Given the description of an element on the screen output the (x, y) to click on. 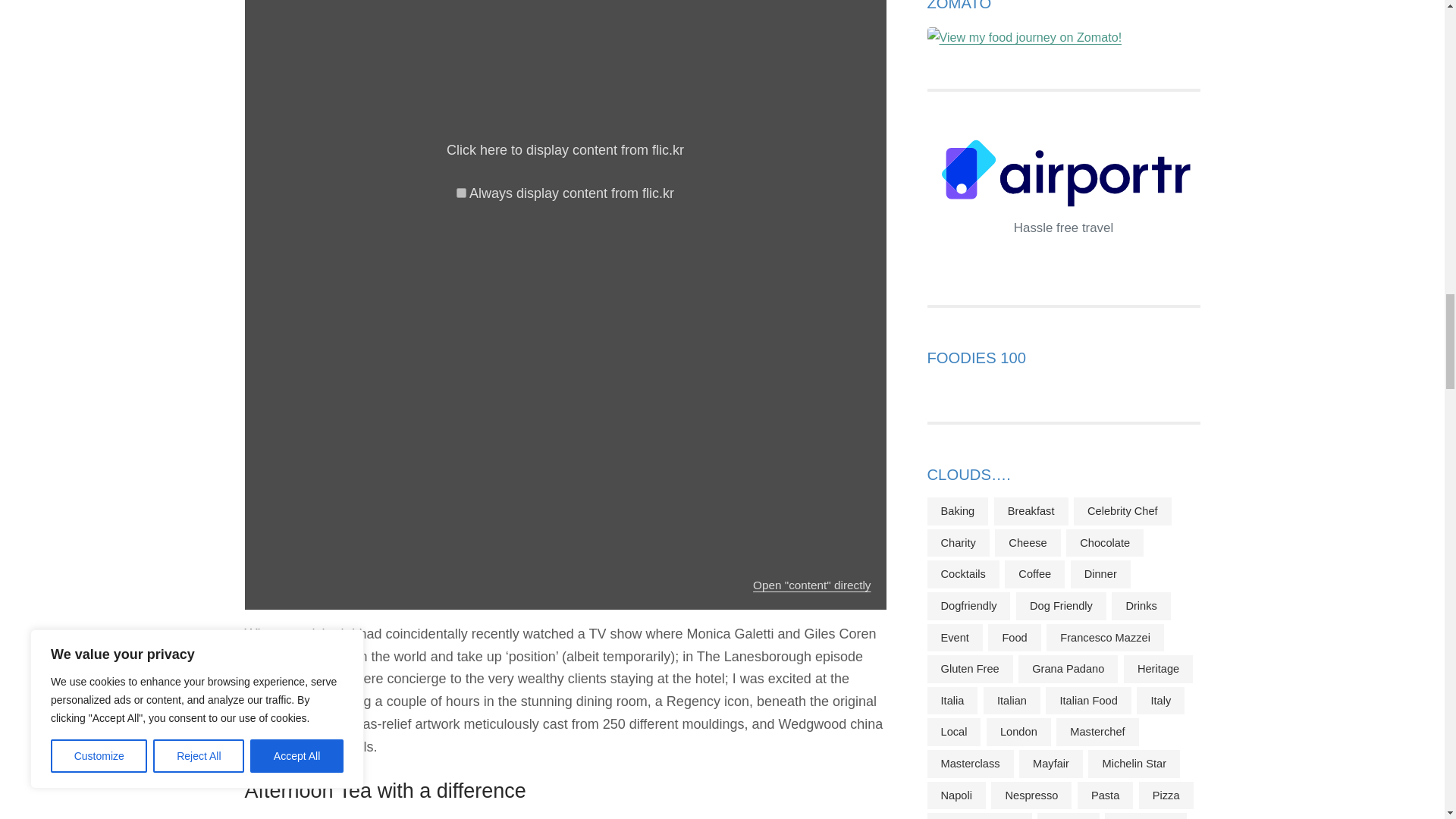
Open "content" directly (811, 584)
View Pasta Bites's food journey on Zomato! (1023, 36)
1 (461, 193)
